Given the description of an element on the screen output the (x, y) to click on. 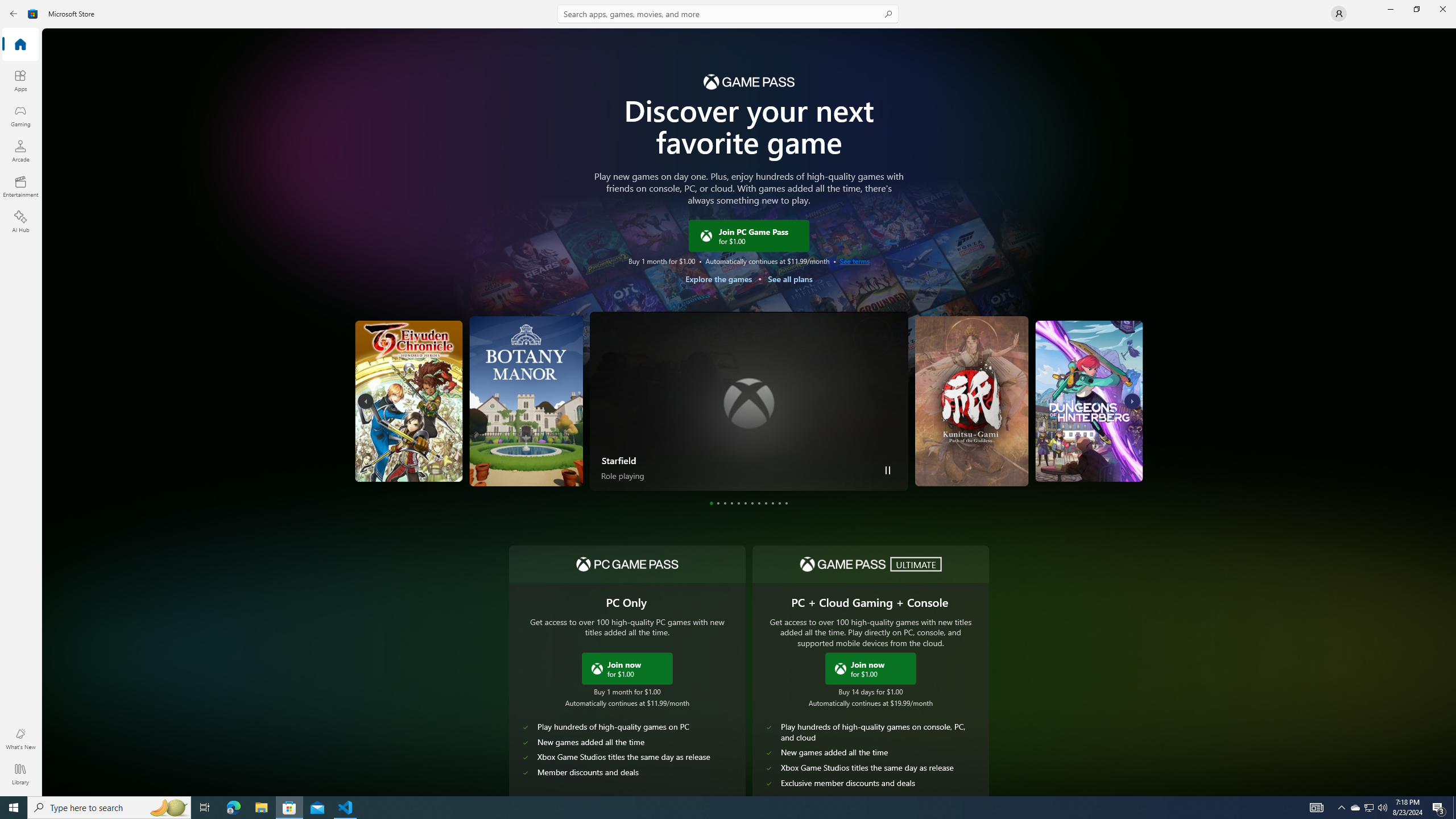
PC Game Pass logo (627, 563)
Page 6 (745, 503)
Page 4 (731, 503)
Play Trailer (1102, 466)
Page 5 (738, 503)
Page 2 (718, 503)
